Given the description of an element on the screen output the (x, y) to click on. 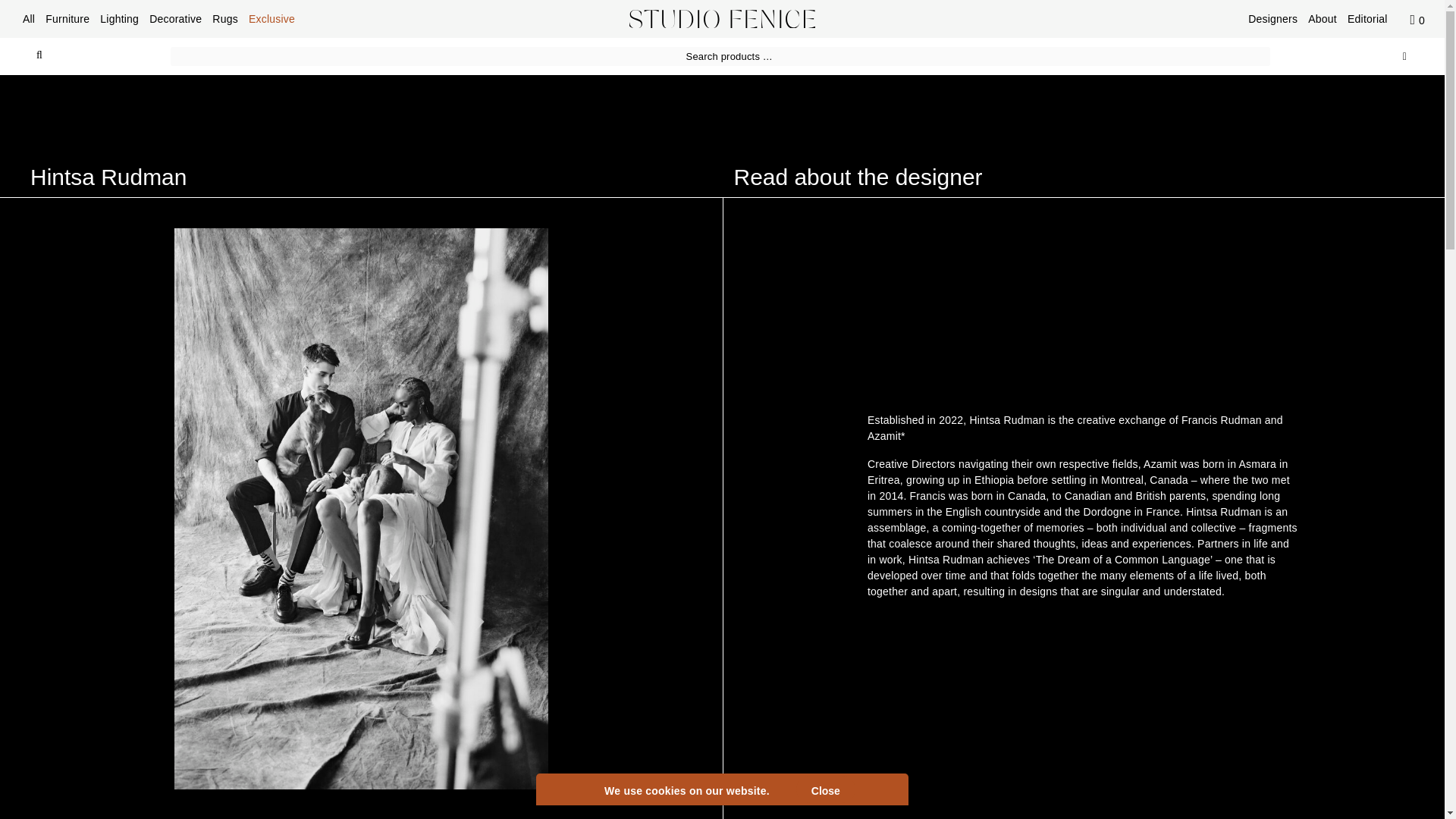
About (1322, 18)
0 (1417, 18)
Designers (1272, 18)
All (28, 18)
Exclusive (271, 18)
Editorial (1366, 18)
